Given the description of an element on the screen output the (x, y) to click on. 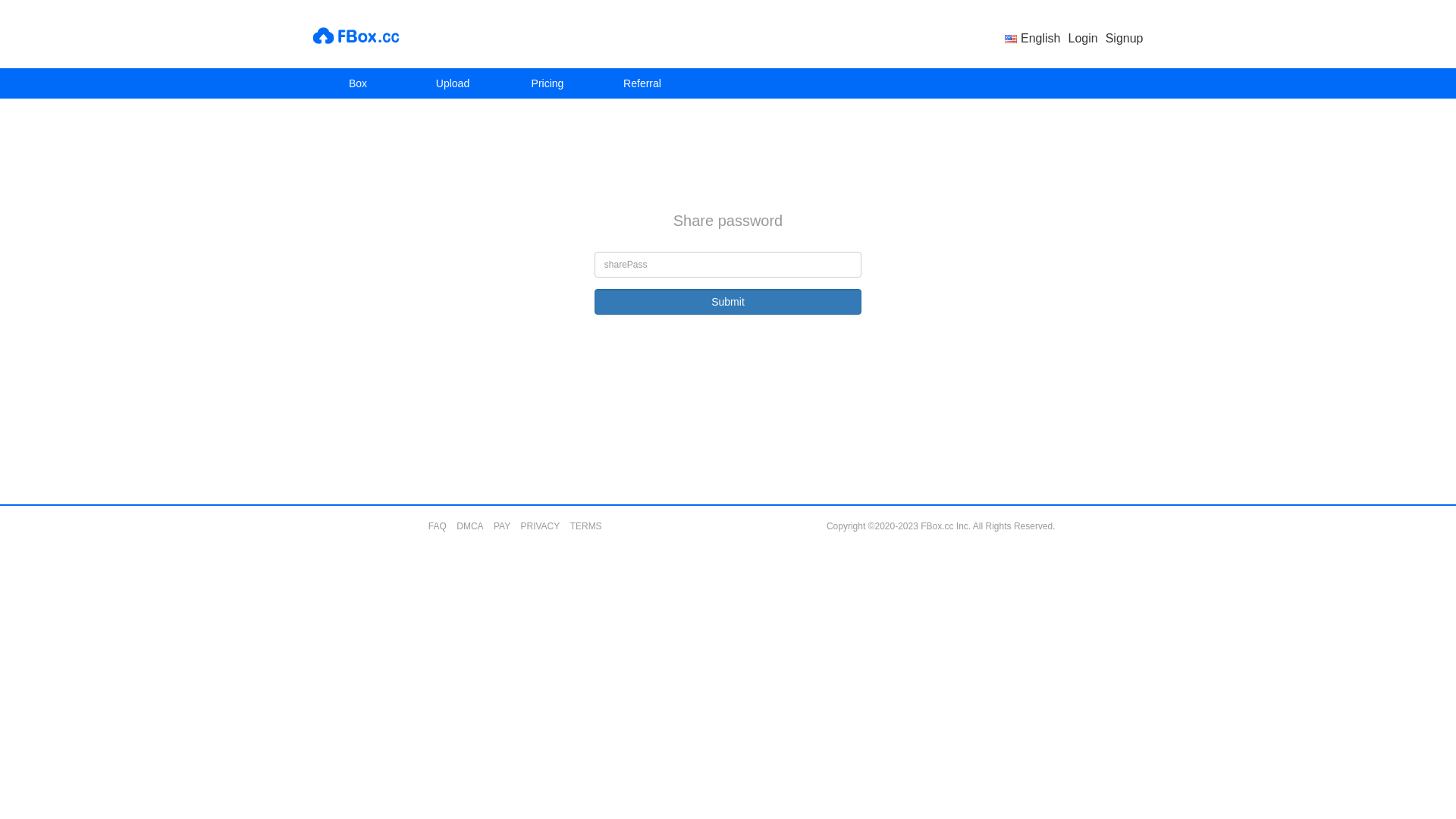
English Element type: text (1032, 38)
Box Element type: text (357, 83)
Pricing Element type: text (547, 83)
Login Element type: text (1083, 38)
PRIVACY Element type: text (539, 525)
DMCA Element type: text (469, 525)
Submit Element type: text (727, 301)
Signup Element type: text (1124, 38)
PAY Element type: text (501, 525)
Upload Element type: text (451, 83)
Referral Element type: text (641, 83)
TERMS Element type: text (585, 525)
FAQ Element type: text (437, 525)
